Given the description of an element on the screen output the (x, y) to click on. 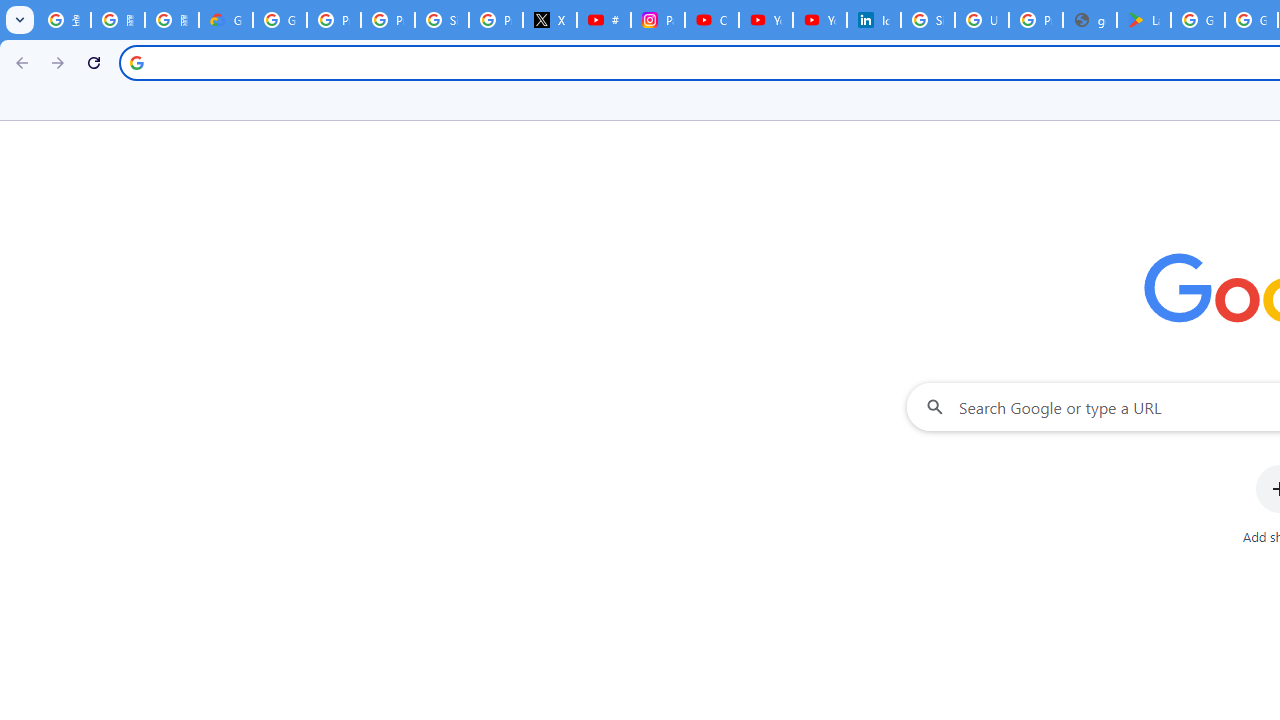
YouTube Culture & Trends - YouTube Top 10, 2021 (819, 20)
X (550, 20)
